Given the description of an element on the screen output the (x, y) to click on. 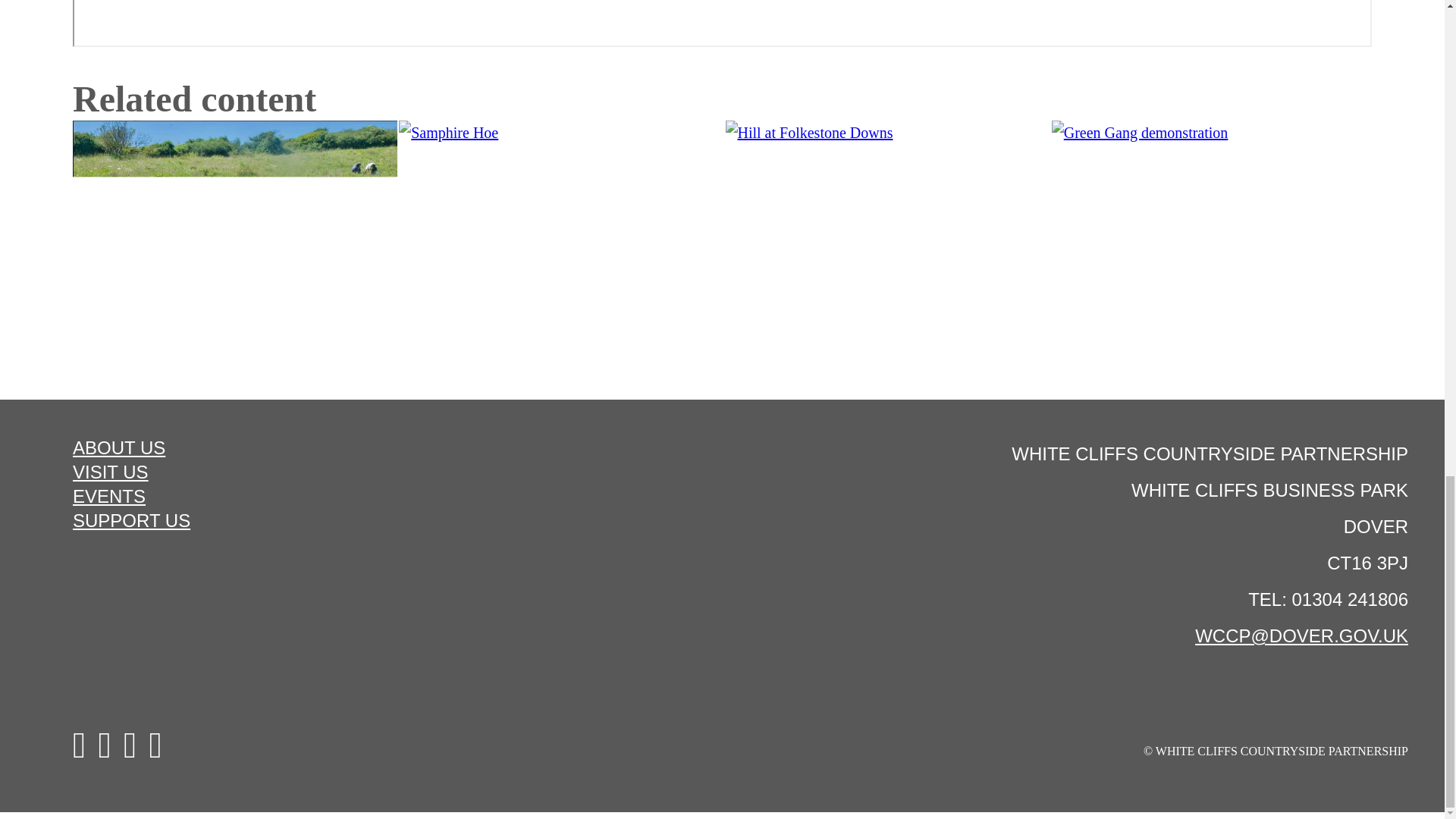
VISIT US (360, 472)
EVENTS (360, 496)
Samphire Hoe (560, 241)
Volunteer (234, 241)
What's On (1213, 241)
Folkestone Downs (887, 241)
ABOUT US (360, 447)
SUPPORT US (360, 520)
